Given the description of an element on the screen output the (x, y) to click on. 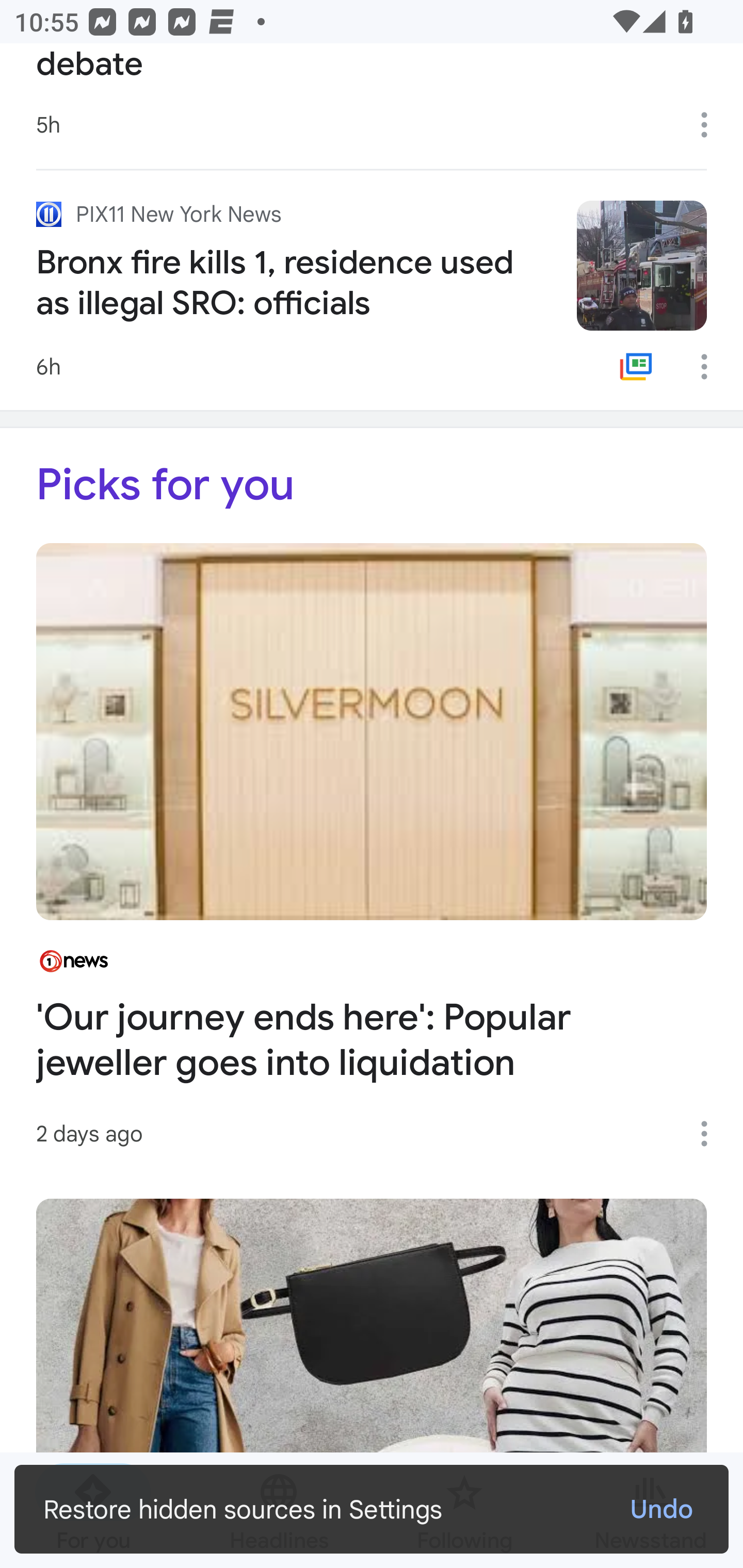
More options (711, 124)
More options (711, 366)
More options (711, 1133)
Undo (660, 1509)
